Given the description of an element on the screen output the (x, y) to click on. 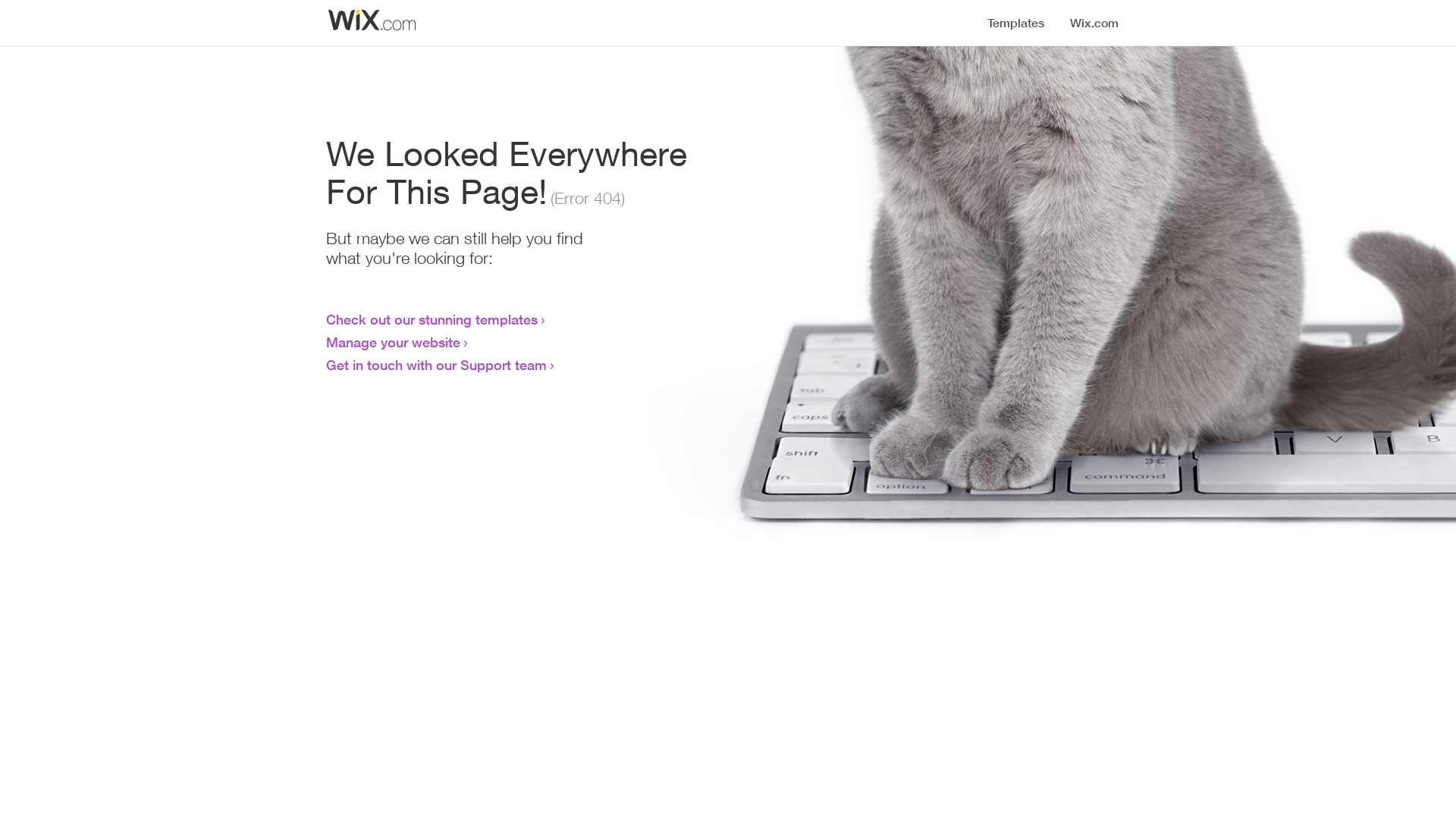
Get in touch with our Support team Element type: text (436, 364)
Manage your website Element type: text (393, 341)
Check out our stunning templates Element type: text (431, 318)
